Given the description of an element on the screen output the (x, y) to click on. 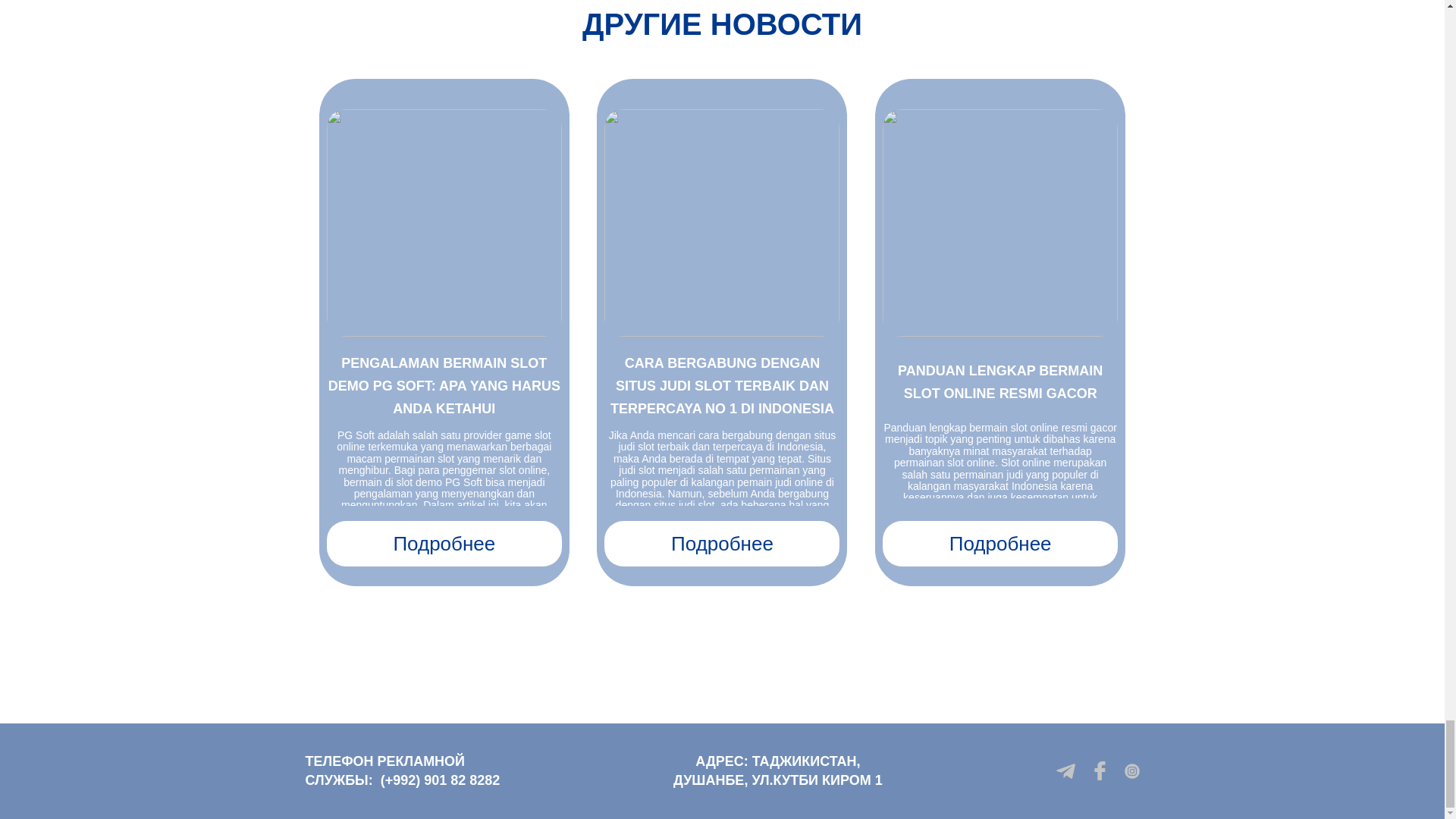
Panduan Lengkap Bermain Slot Online Resmi Gacor (1000, 222)
